Given the description of an element on the screen output the (x, y) to click on. 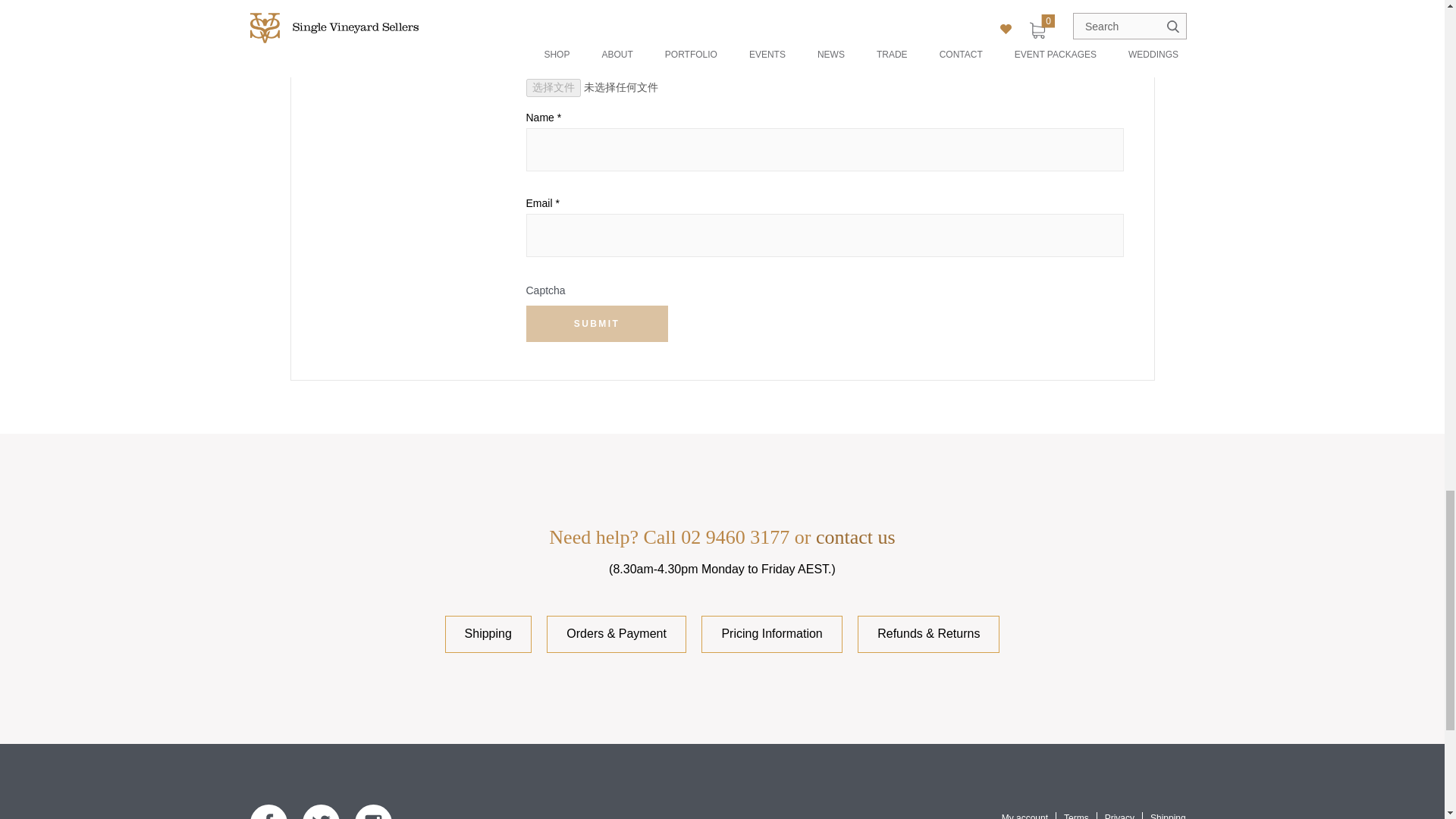
Pricing Information (771, 633)
Submit (596, 323)
Submit (596, 323)
contact us (855, 536)
Shipping (488, 633)
